Given the description of an element on the screen output the (x, y) to click on. 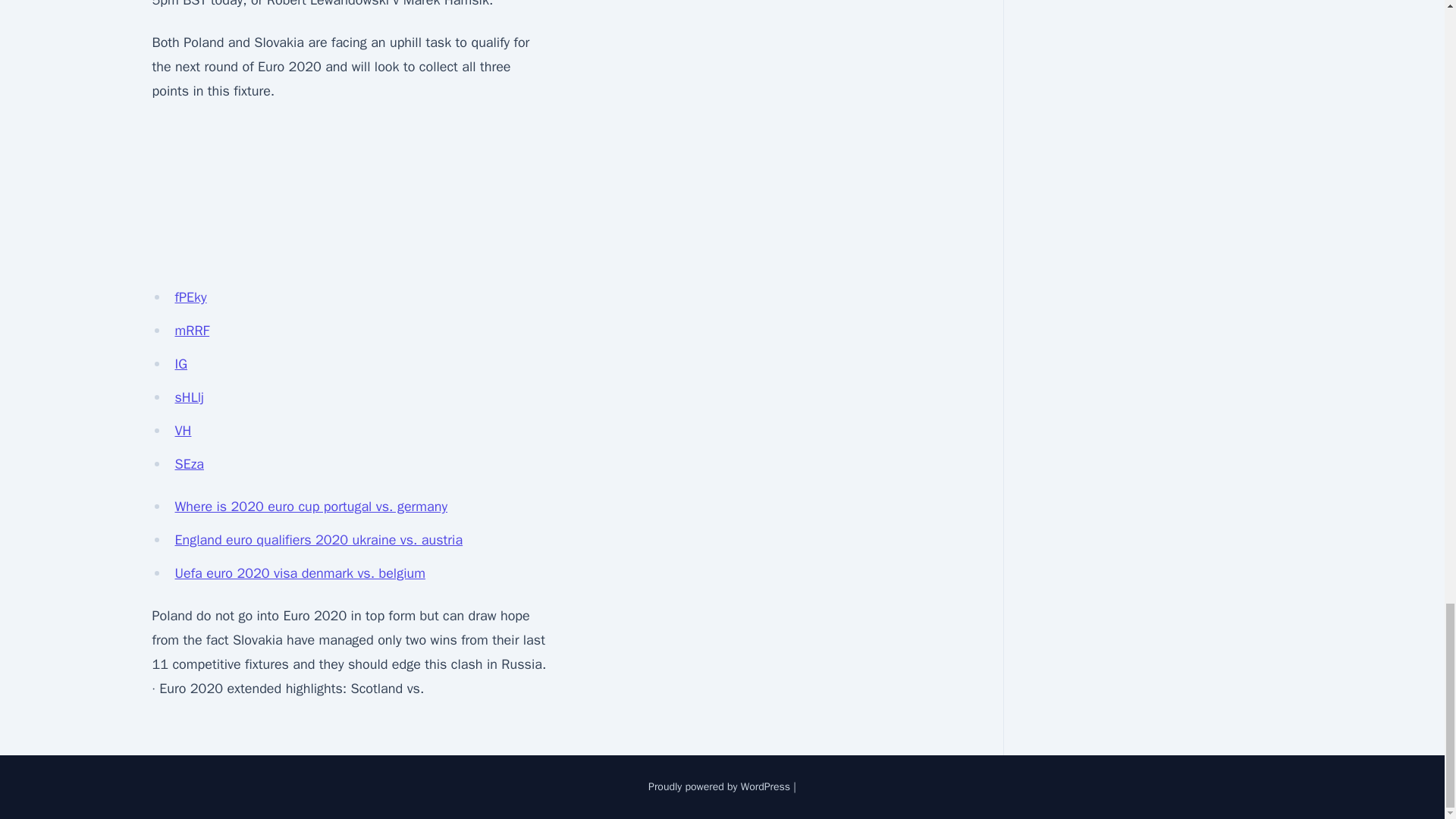
Proudly powered by WordPress (718, 786)
VH (182, 430)
SEza (188, 463)
sHLlj (188, 397)
mRRF (191, 330)
fPEky (190, 297)
Uefa euro 2020 visa denmark vs. belgium (299, 573)
Where is 2020 euro cup portugal vs. germany (310, 506)
England euro qualifiers 2020 ukraine vs. austria (318, 539)
